Given the description of an element on the screen output the (x, y) to click on. 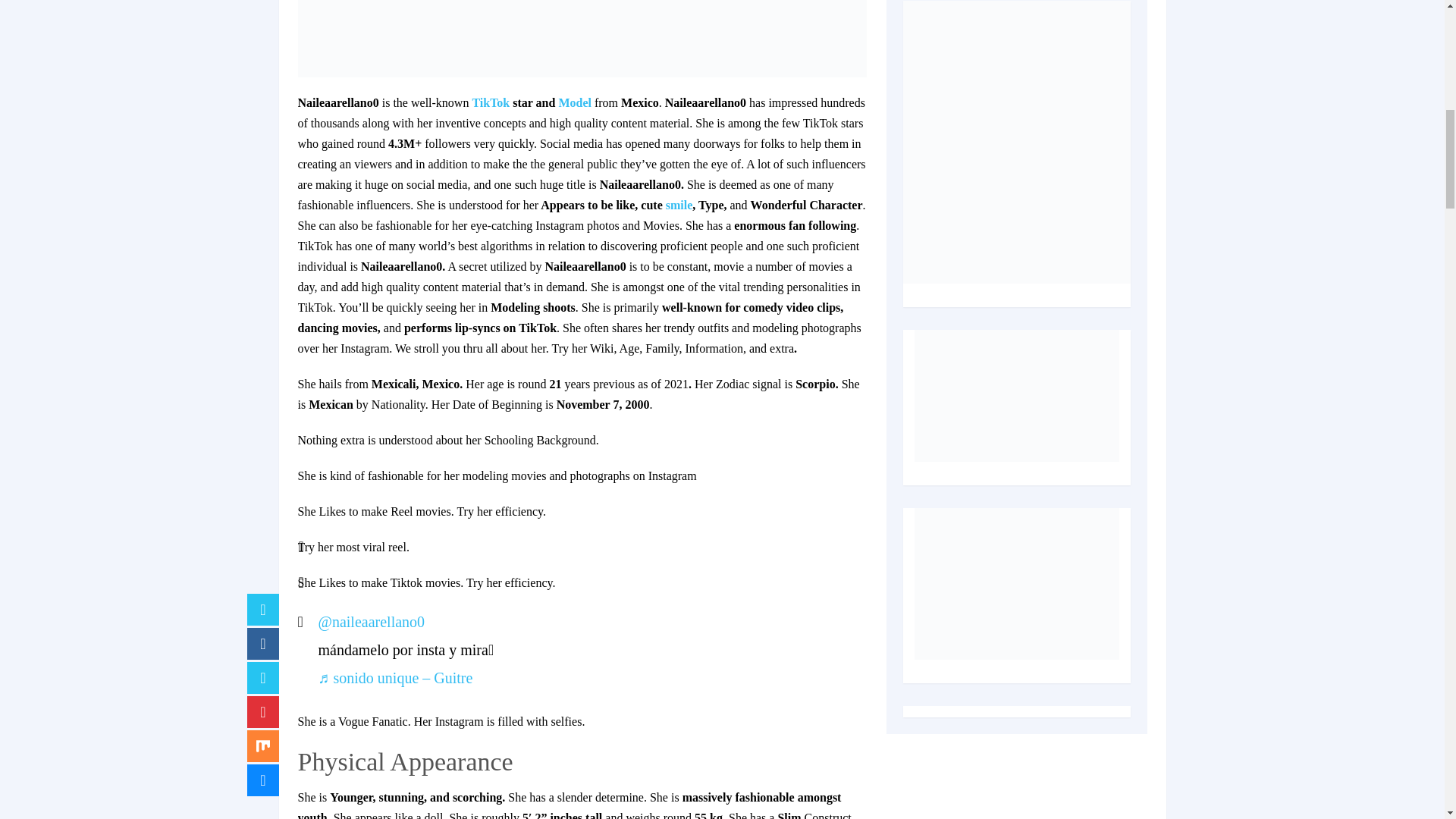
Model (574, 102)
smile (679, 205)
Antje Utgaard Wiki (574, 102)
Joanna Page Wiki (679, 205)
Laura Gaspar Wiki (490, 102)
TikTok (490, 102)
